Given the description of an element on the screen output the (x, y) to click on. 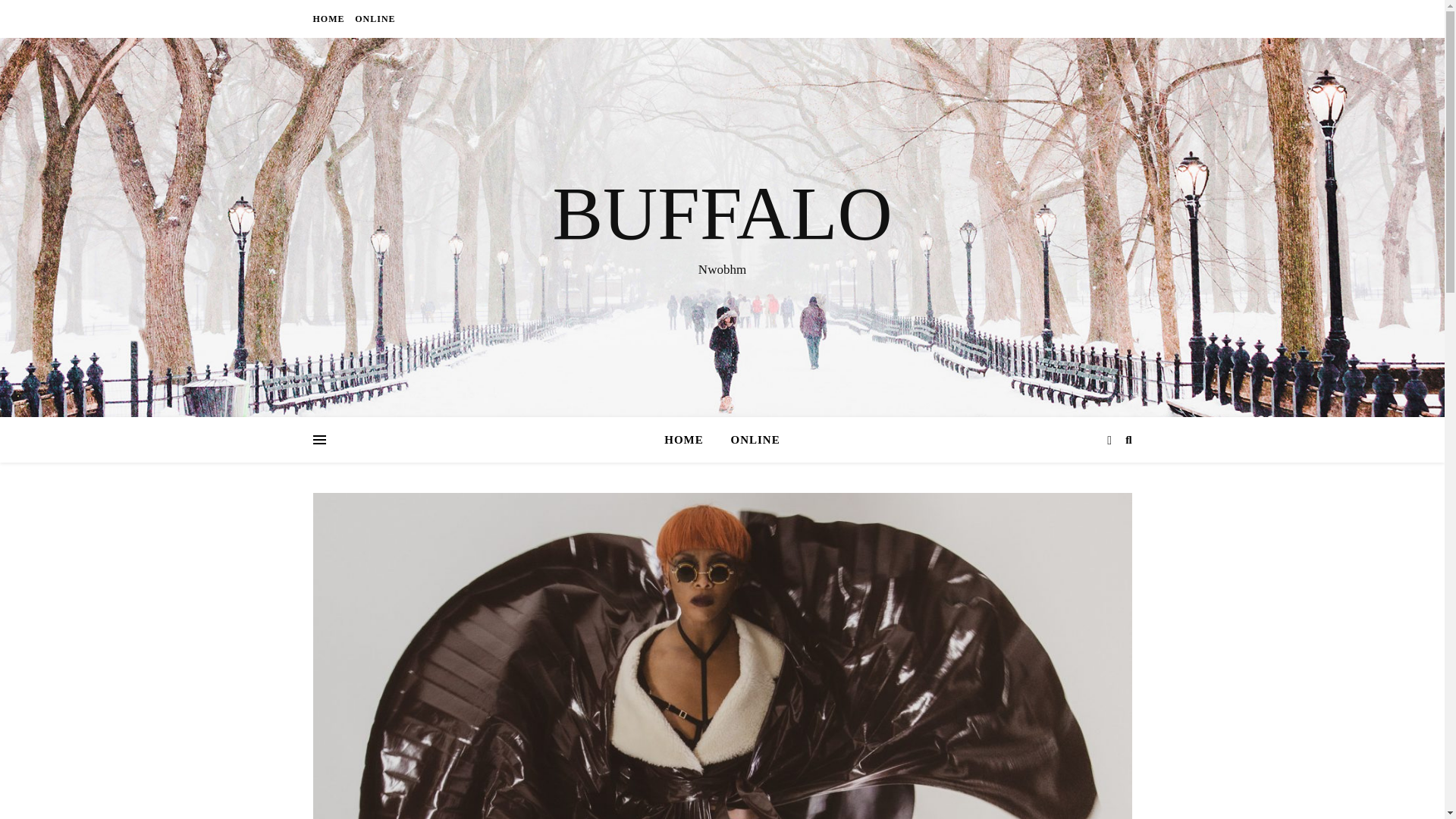
ONLINE (749, 439)
HOME (689, 439)
ONLINE (372, 18)
HOME (330, 18)
